Given the description of an element on the screen output the (x, y) to click on. 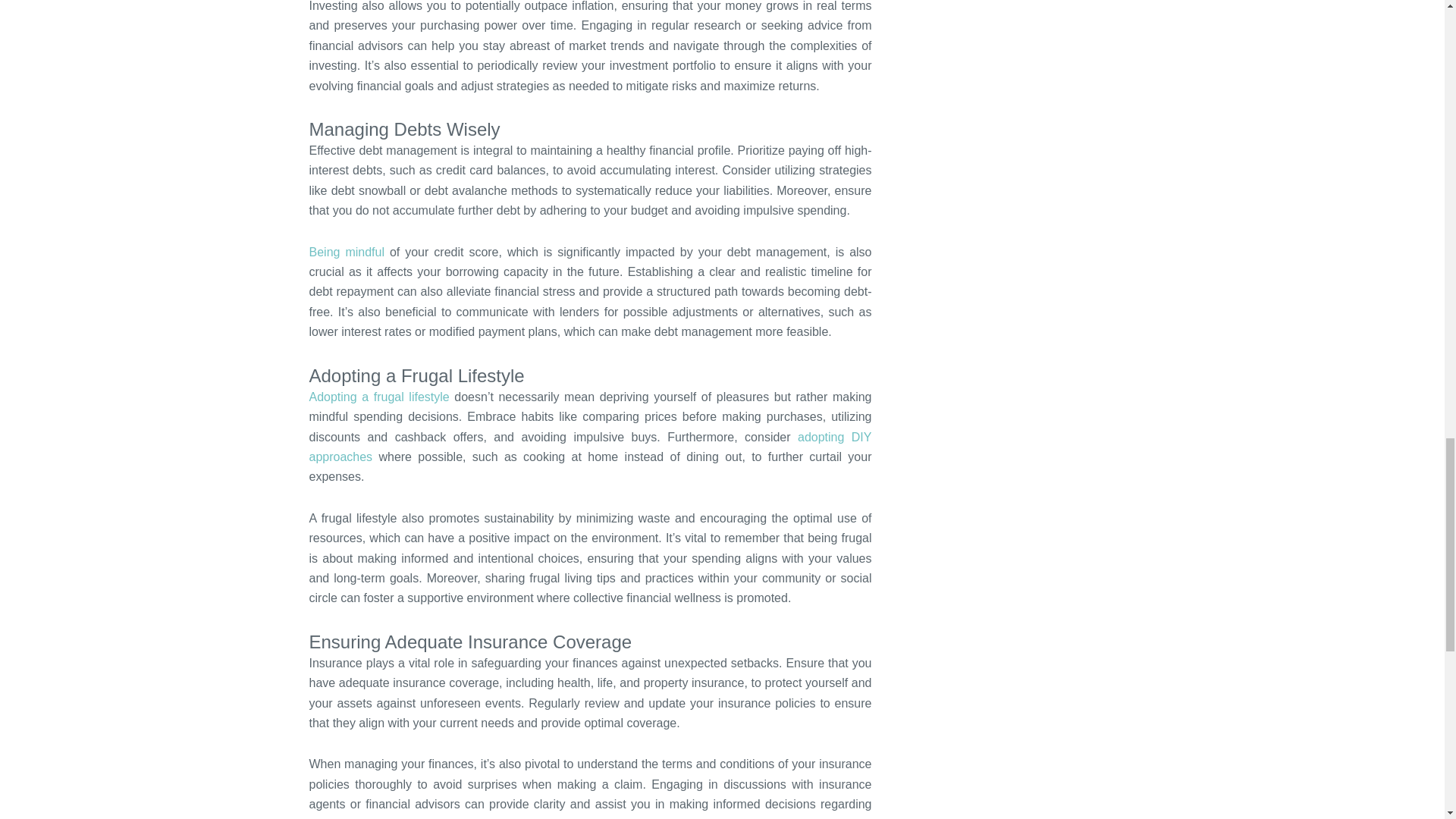
Adopting a frugal lifestyle (378, 396)
adopting DIY approaches (590, 446)
Being mindful (346, 251)
